Given the description of an element on the screen output the (x, y) to click on. 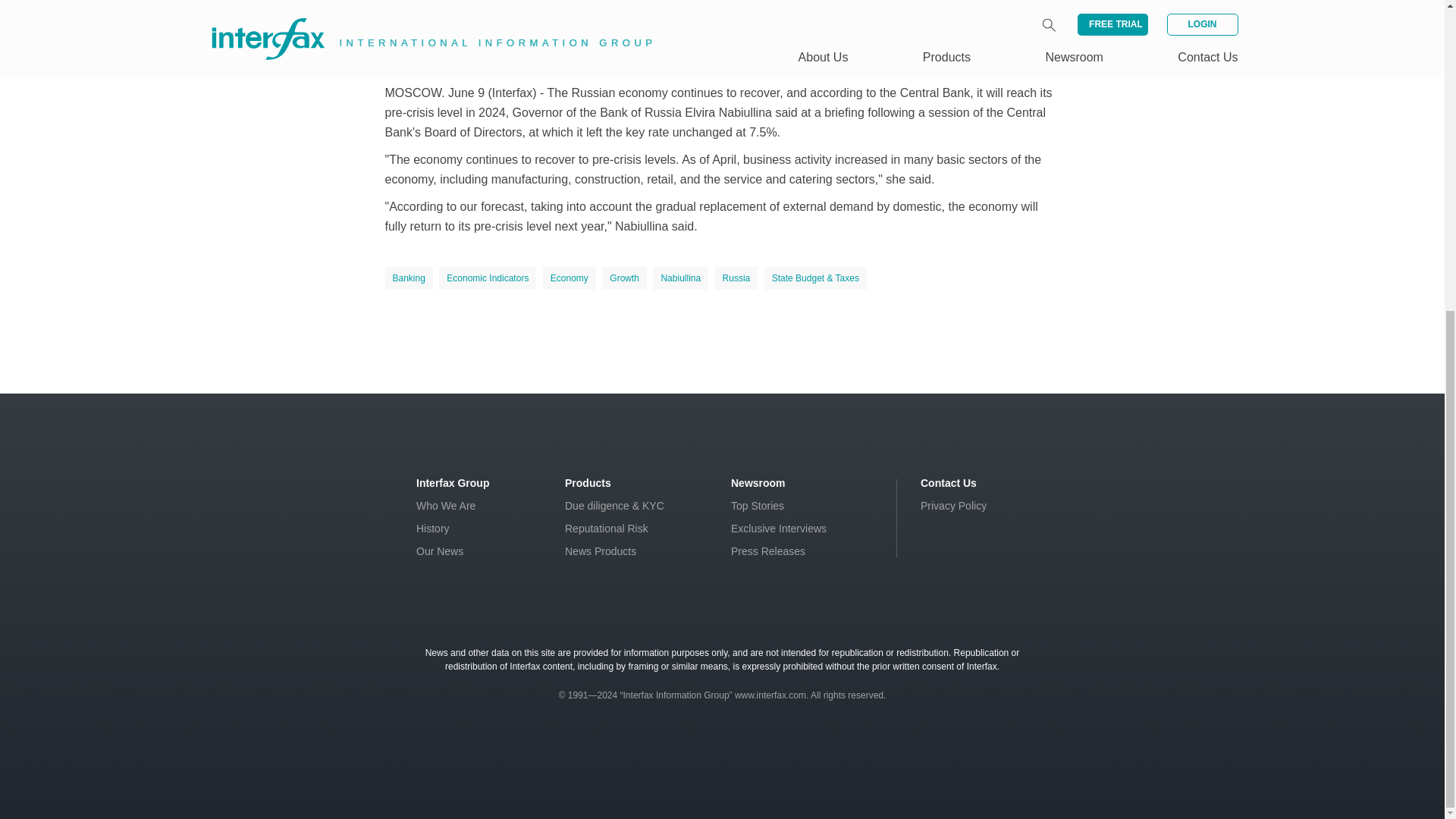
Banking (408, 277)
Economic Indicators (487, 277)
Growth (624, 277)
Economy (569, 277)
